Given the description of an element on the screen output the (x, y) to click on. 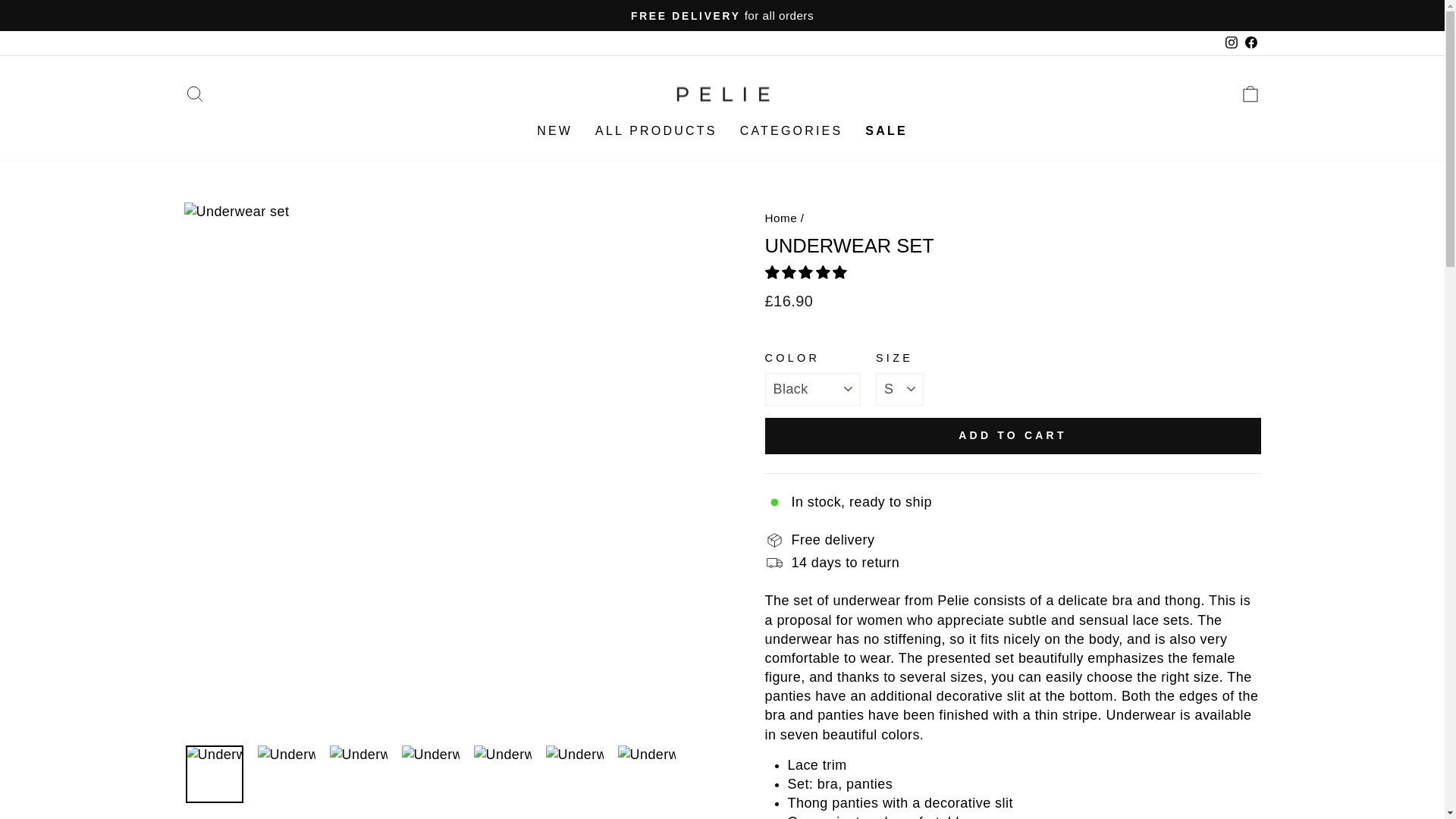
ALL PRODUCTS (656, 131)
SEARCH (194, 93)
NEW (554, 131)
Back to the frontpage (780, 217)
CART (1249, 93)
CATEGORIES (791, 131)
